Given the description of an element on the screen output the (x, y) to click on. 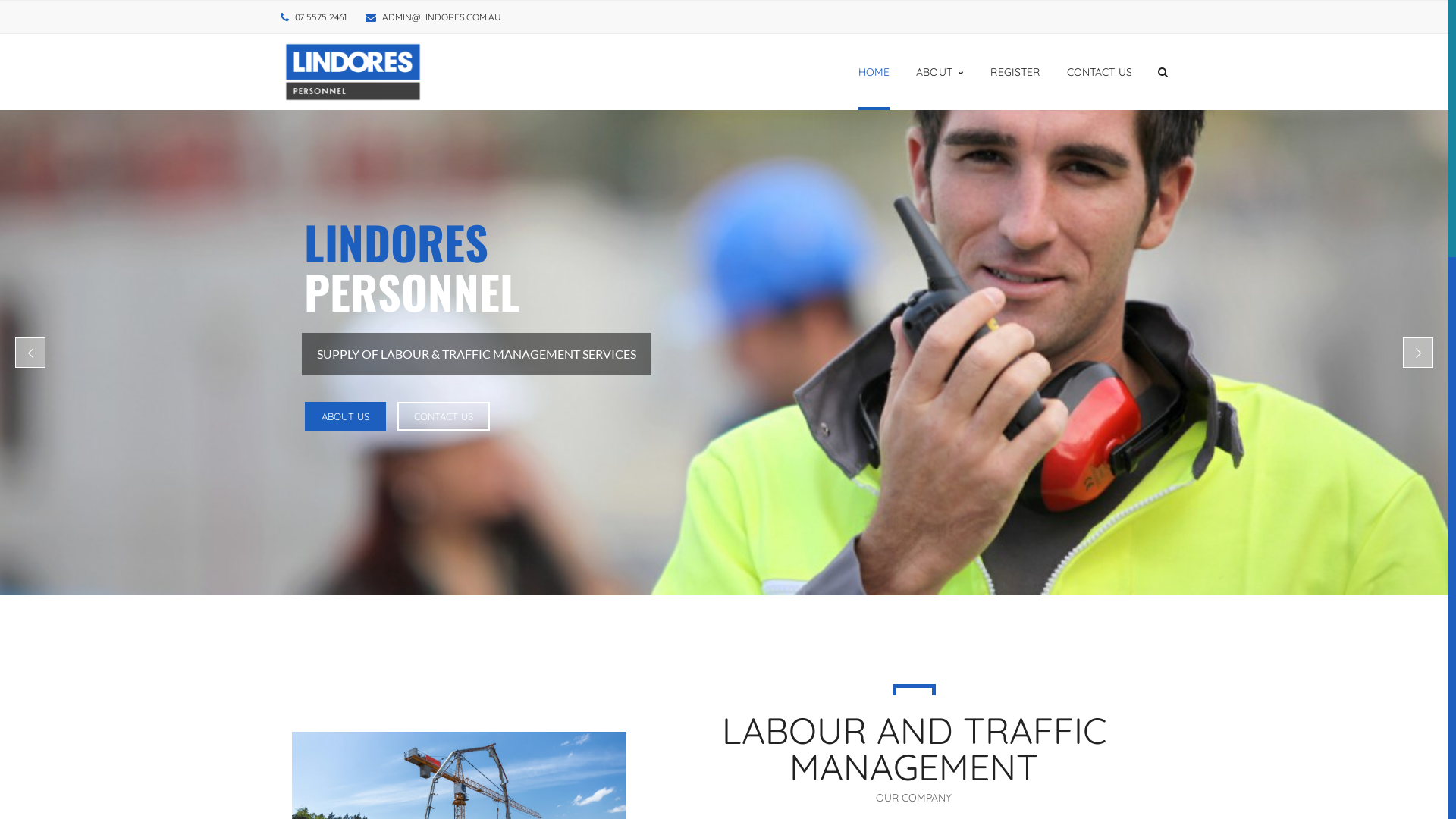
HOME Element type: text (874, 71)
CONTACT US Element type: text (443, 415)
REGISTER Element type: text (1014, 71)
07 5575 2461 Element type: text (320, 16)
ABOUT US Element type: text (344, 415)
CONTACT US Element type: text (1099, 71)
ADMIN@LINDORES.COM.AU Element type: text (441, 16)
ABOUT Element type: text (939, 71)
